Given the description of an element on the screen output the (x, y) to click on. 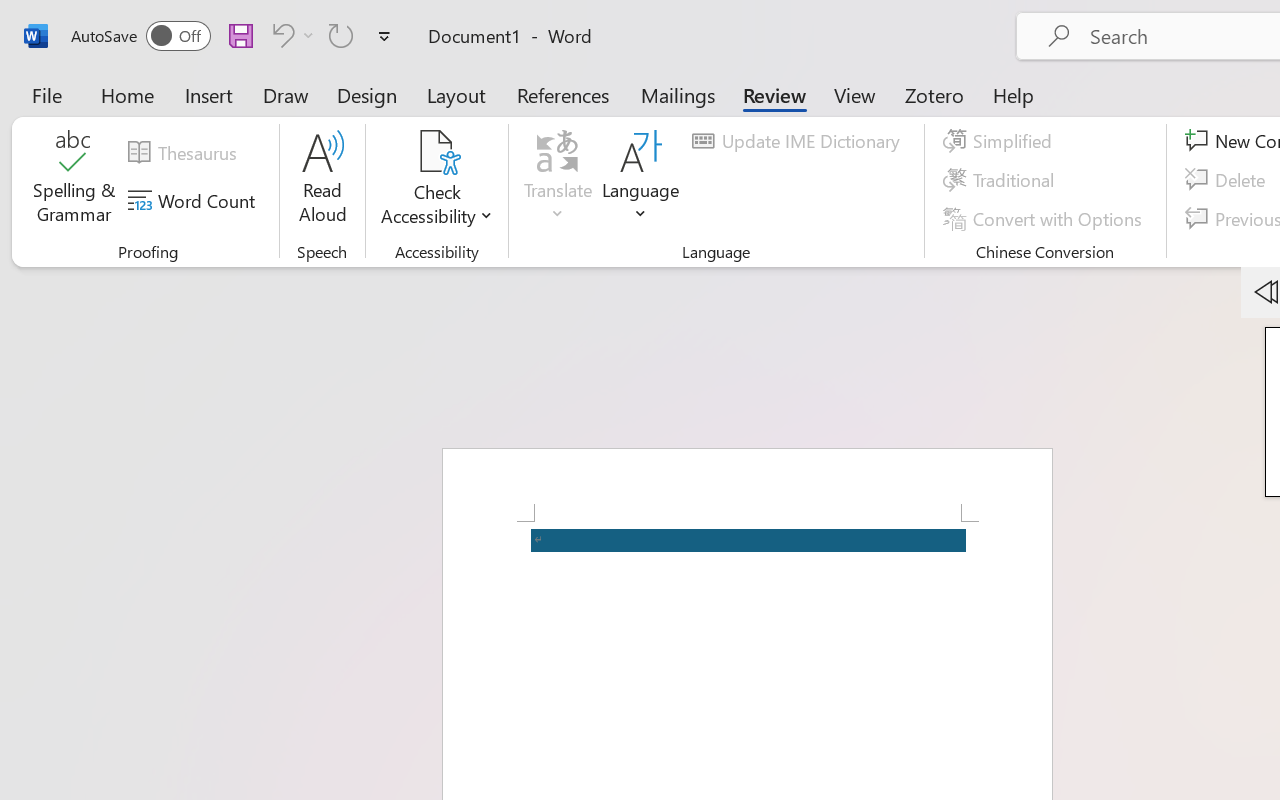
Update IME Dictionary... (799, 141)
Thesaurus... (185, 153)
Translate (558, 179)
Word Count (194, 201)
Read Aloud (322, 179)
Undo Apply Quick Style Set (280, 35)
